Given the description of an element on the screen output the (x, y) to click on. 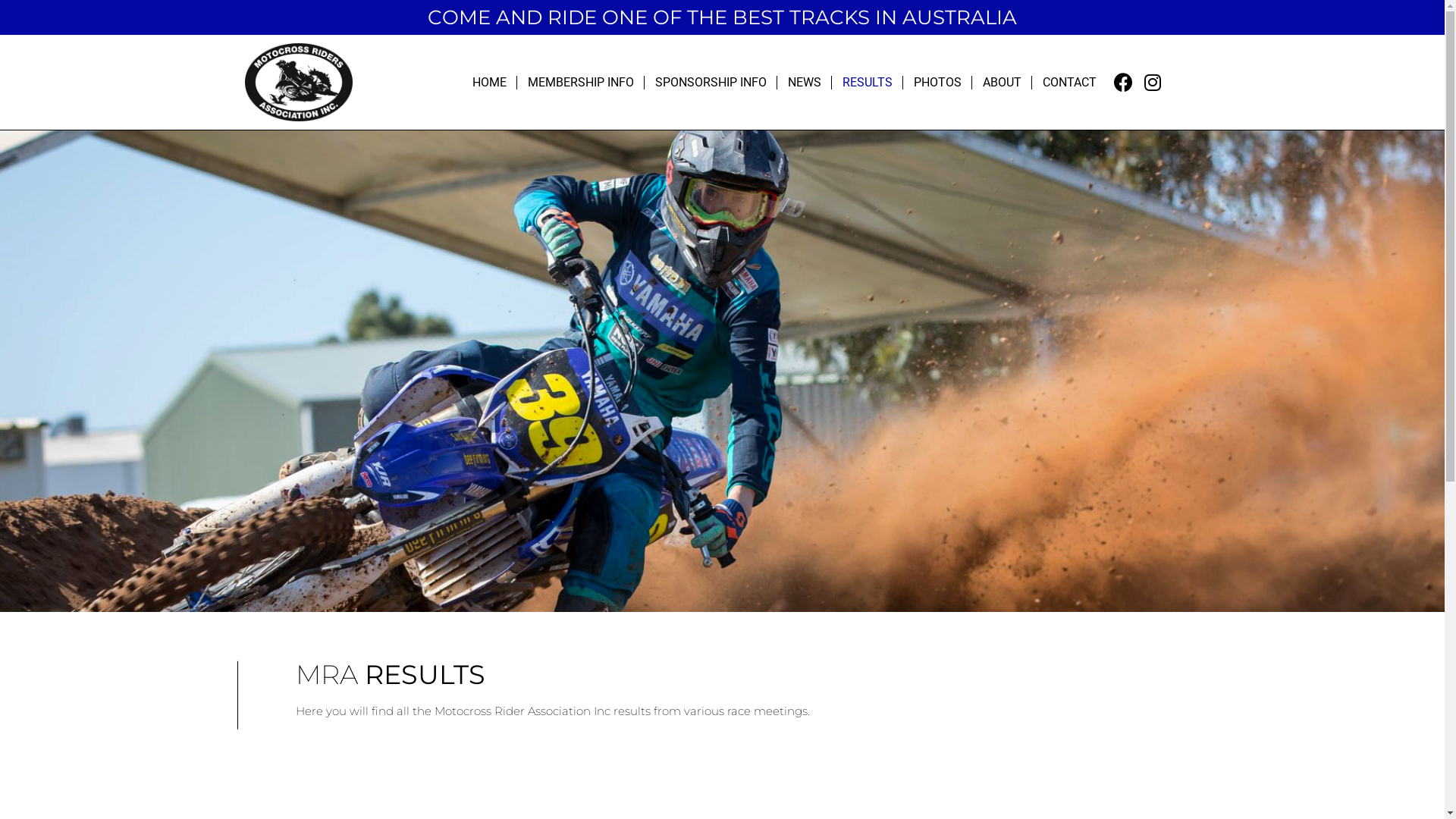
NEWS Element type: text (804, 81)
RESULTS Element type: text (867, 81)
CONTACT Element type: text (1069, 81)
PHOTOS Element type: text (937, 81)
SPONSORSHIP INFO Element type: text (710, 81)
HOME Element type: text (489, 81)
ABOUT Element type: text (1001, 81)
MEMBERSHIP INFO Element type: text (580, 81)
